Given the description of an element on the screen output the (x, y) to click on. 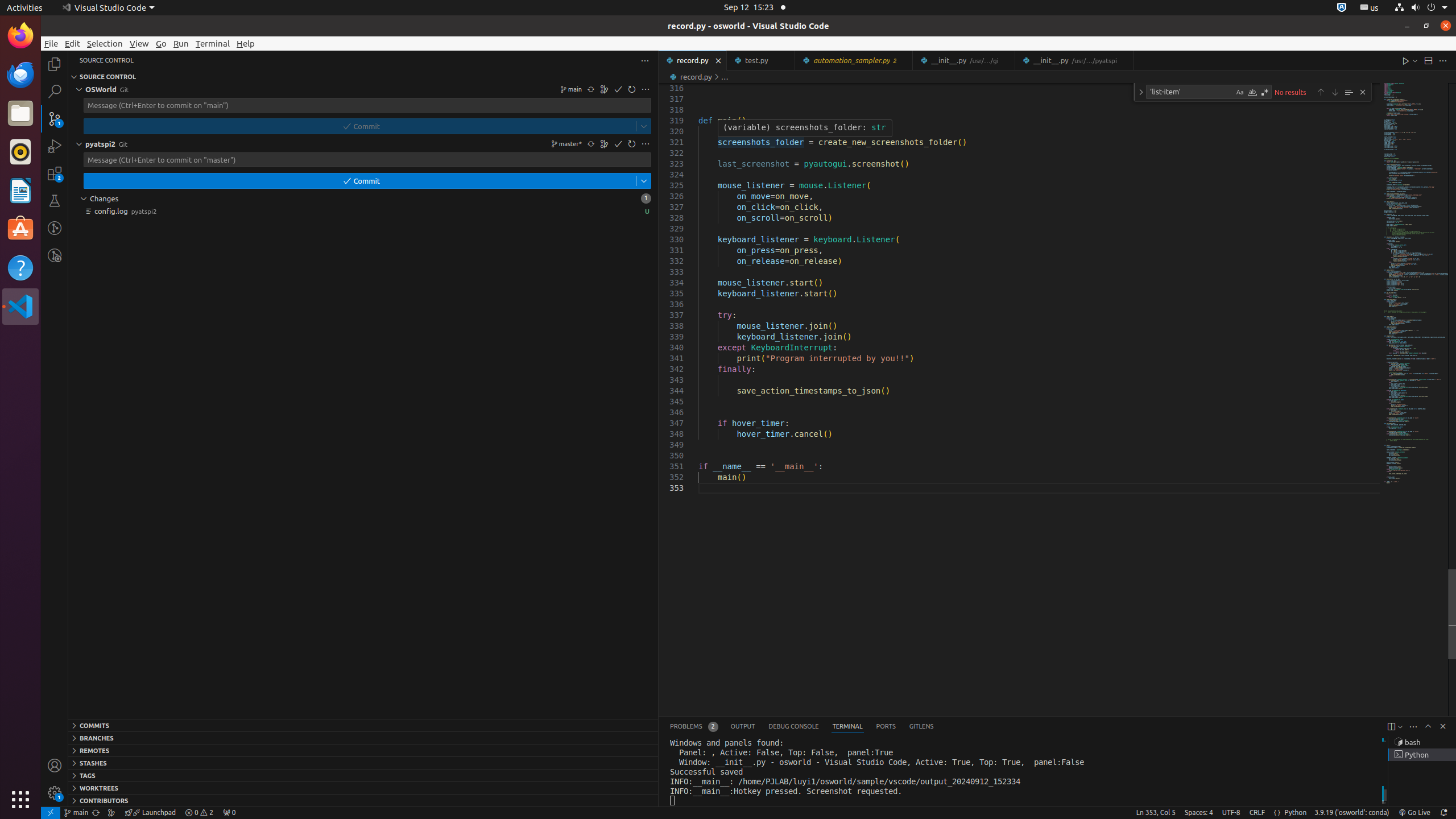
GitLens Inspect Element type: page-tab (54, 255)
Toggle Replace Element type: push-button (1140, 92)
UTF-8 Element type: push-button (1230, 812)
View Element type: push-button (139, 43)
Source Control Section Element type: push-button (363, 76)
